Given the description of an element on the screen output the (x, y) to click on. 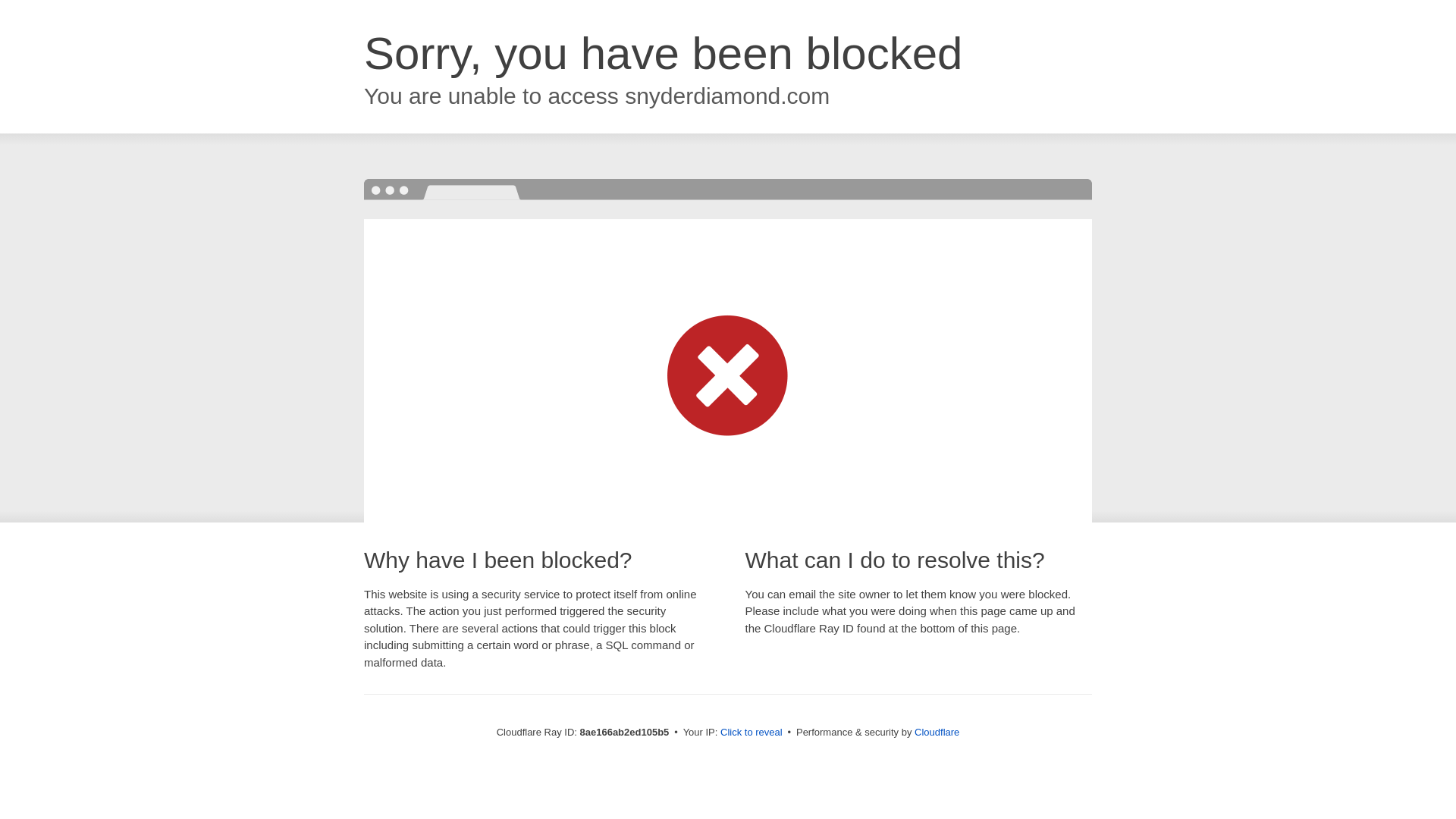
Click to reveal (751, 732)
Cloudflare (936, 731)
